Given the description of an element on the screen output the (x, y) to click on. 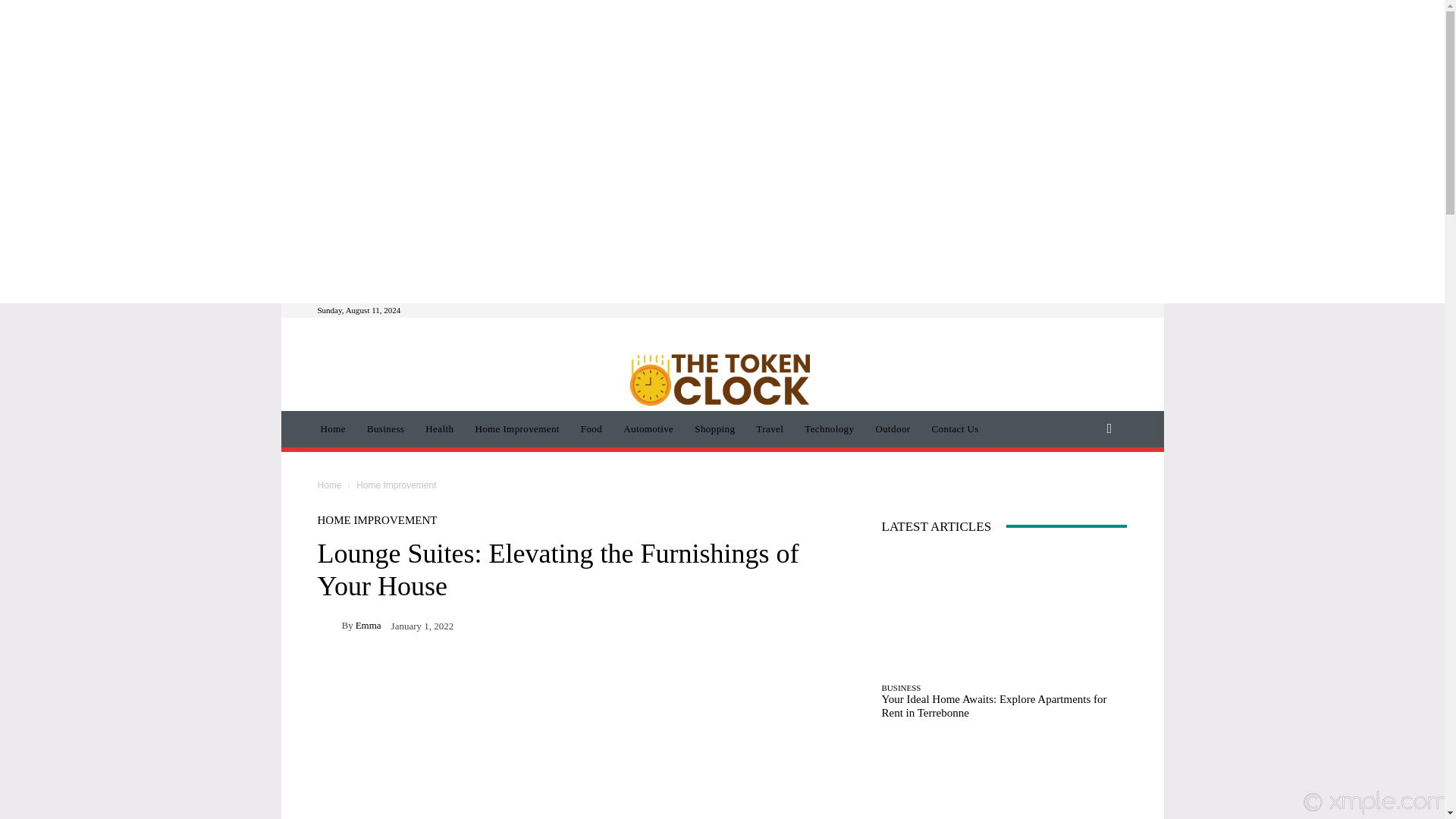
Home Improvement (395, 484)
Contact Us (955, 429)
Outdoor (892, 429)
Travel (769, 429)
Home Improvement (516, 429)
Home (331, 429)
Technology (828, 429)
Automotive (648, 429)
Home (328, 484)
